Given the description of an element on the screen output the (x, y) to click on. 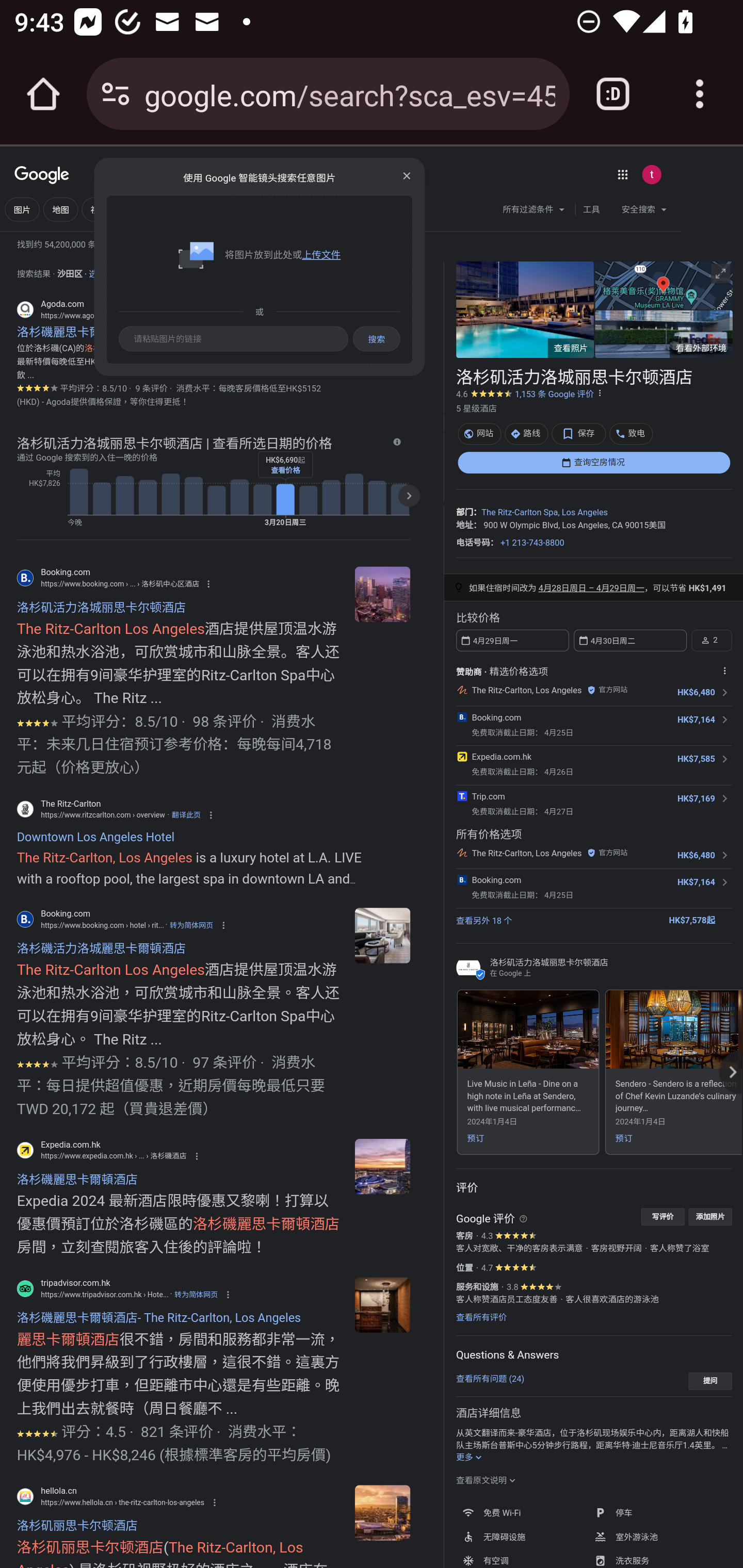
Open the home page (43, 93)
Connection is secure (115, 93)
Switch or close tabs (612, 93)
Customize and control Google Chrome (699, 93)
搜索 (408, 172)
Google 应用 (622, 174)
Google 账号： test appium (testappium002@gmail.com) (650, 174)
Google (41, 176)
图片 (21, 209)
地图 (60, 209)
所有过滤条件 (533, 211)
工具 (590, 209)
安全搜索 (643, 211)
查看照片 查看照片 (524, 309)
洛杉矶活力洛城丽思卡尔顿酒店地图 (662, 284)
看看外部环境 看看外部环境 看看外部环境 看看外部环境 (662, 333)
更多选项 (599, 392)
1,153 条 Google 评价 (554, 393)
网站 (479, 433)
路线 (525, 433)
保存到您的列表中 (578, 433)
致电 (630, 433)
了解详情 (396, 441)
查询空房情况 (593, 462)
查看价格 (284, 470)
The Ritz-Carlton Spa, Los Angeles (543, 512)
地址 (464, 524)
拨打电话 +1 213-743-8800 (532, 542)
ritz-carlton-los-angeles.zh-cn (382, 594)
4月28日周日 – 4月29日周一 (590, 587)
请选择入住日期。目前的入住日期是 2024-04-29  (511, 639)
请选择退房日期。目前的退房日期是 2024-04-30  (629, 639)
请选择访客人数 (710, 639)
为什么会显示该广告？ (724, 669)
The Ritz-Carlton, Los Angeles (526, 690)
HK$6,480 (695, 691)
Booking.com (496, 716)
HK$7,164 (695, 719)
Expedia.com.hk (501, 756)
HK$7,585 (695, 759)
Trip.com (488, 795)
HK$7,169 (695, 797)
翻译此页 (185, 814)
The Ritz-Carlton, Los Angeles (526, 851)
HK$6,480 (695, 854)
Booking.com (496, 879)
HK$7,164 (695, 881)
ritz-carlton-los-angeles.zh-tw (382, 934)
查看另外 18 个 HK$7,578起 (593, 919)
转为简体网页 (191, 924)
Los-Angeles-Hotels-The-Ritz-Carlton.h3443706 (382, 1166)
写评价 (662, 1216)
添加照片 (709, 1216)
这是什么？ (523, 1218)
转为简体网页 (195, 1293)
查看所有评价 (481, 1317)
查看所有问题 (24) (489, 1378)
提问 (709, 1381)
更多有关“洛杉矶活力洛城丽思卡尔顿酒店”的信息 (469, 1457)
查看原文说明 (486, 1479)
the-ritz-carlton-los-angeles (382, 1512)
